Given the description of an element on the screen output the (x, y) to click on. 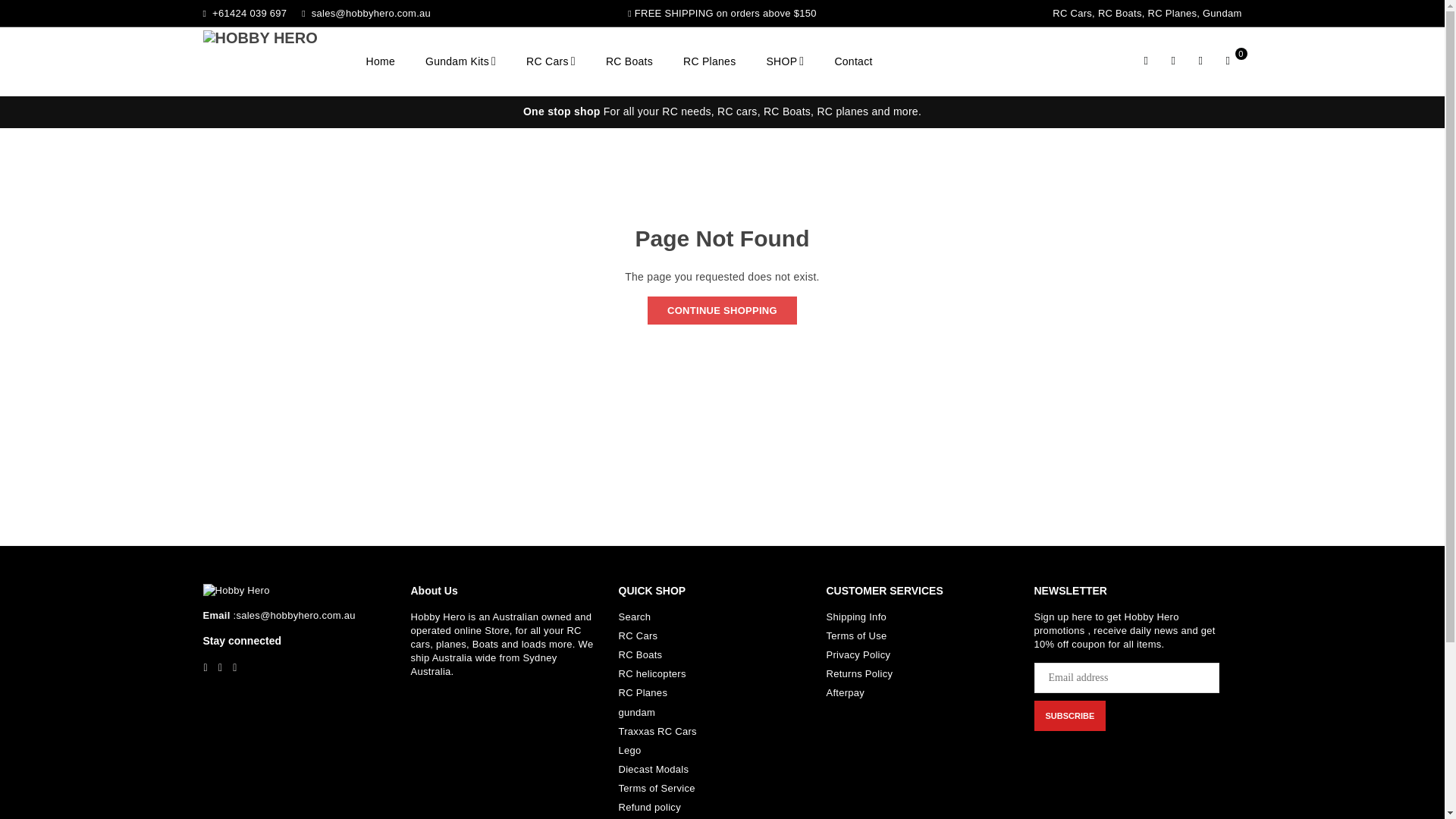
SHOP (784, 61)
Cart (1227, 60)
Gundam Kits (459, 61)
Home (380, 61)
Hobby Hero on Twitter (219, 667)
HOBBY HERO (279, 61)
RC Planes (708, 61)
Settings (1174, 60)
Wishlist (1201, 60)
Hobby Hero on Facebook (205, 667)
